Given the description of an element on the screen output the (x, y) to click on. 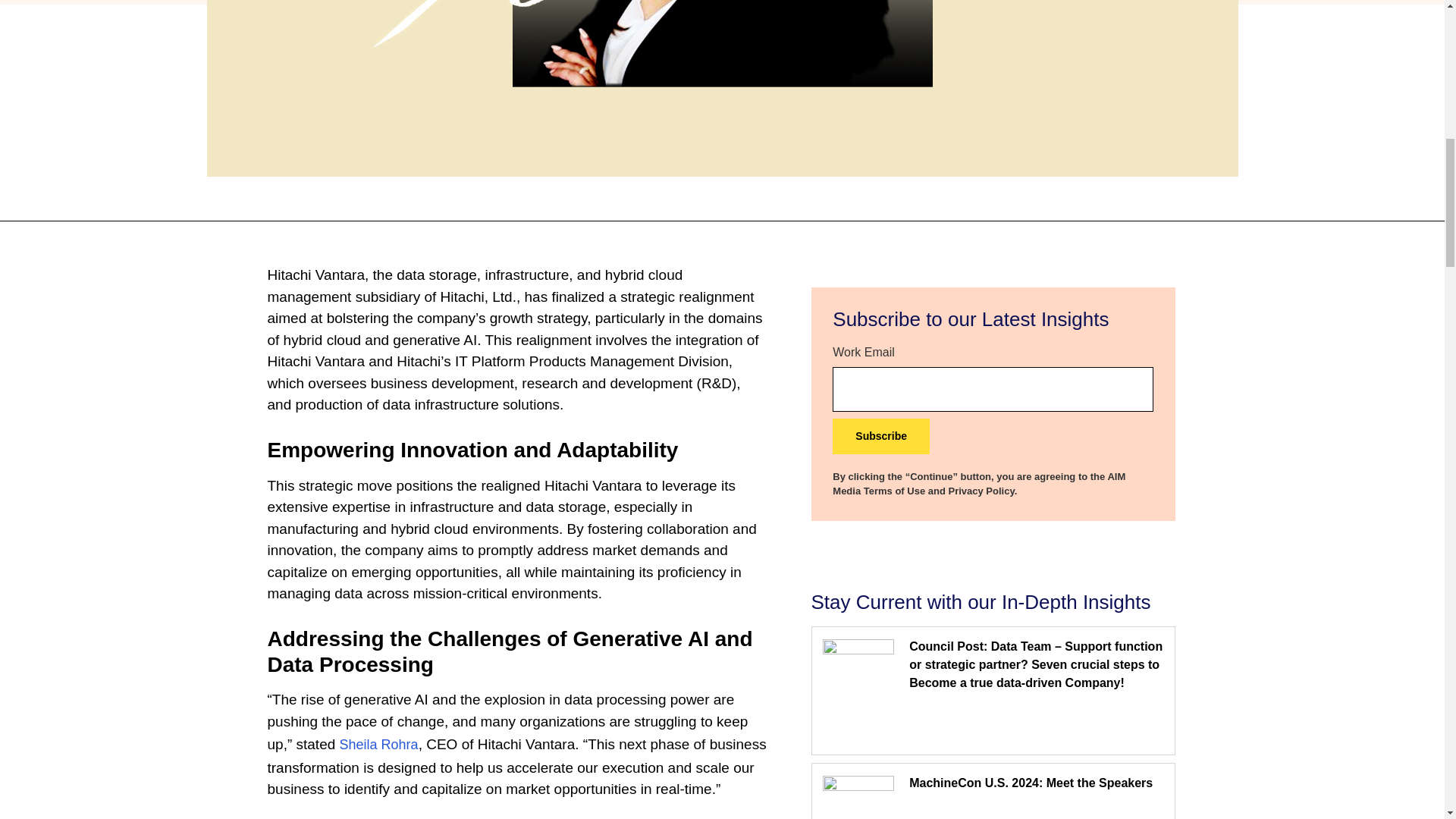
Subscribe (881, 436)
MachineCon U.S. 2024: Meet the Speakers (1030, 782)
Sheila Rohra (379, 744)
